Given the description of an element on the screen output the (x, y) to click on. 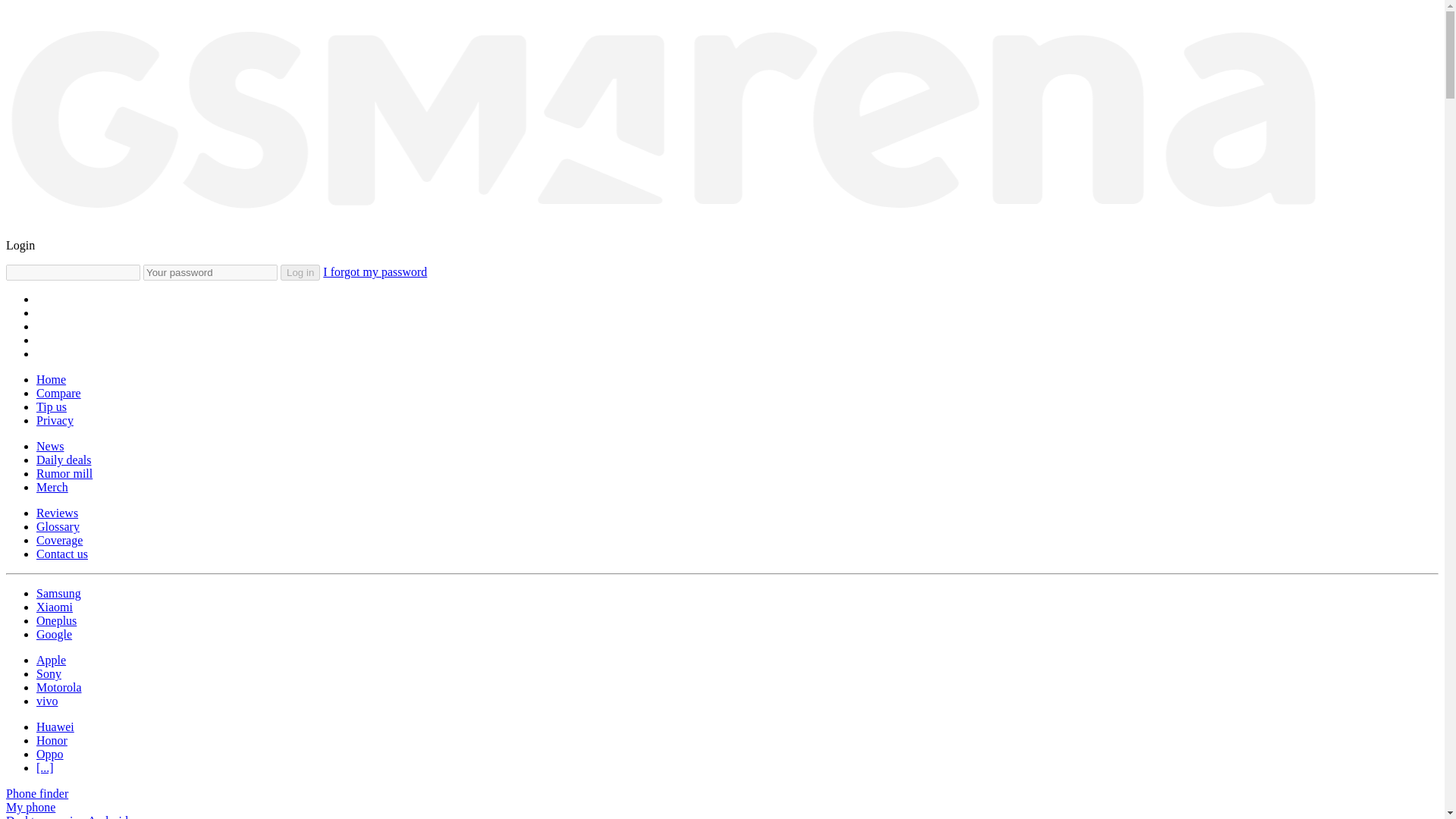
Coverage (59, 540)
Compare (58, 392)
Daily deals (63, 459)
Samsung (58, 593)
I forgot my password (374, 271)
vivo (47, 700)
Sony (48, 673)
Rumor mill (64, 472)
Tip us (51, 406)
Home (50, 379)
Honor (51, 739)
Privacy (55, 420)
Reviews (57, 512)
Log in (300, 272)
Huawei (55, 726)
